Given the description of an element on the screen output the (x, y) to click on. 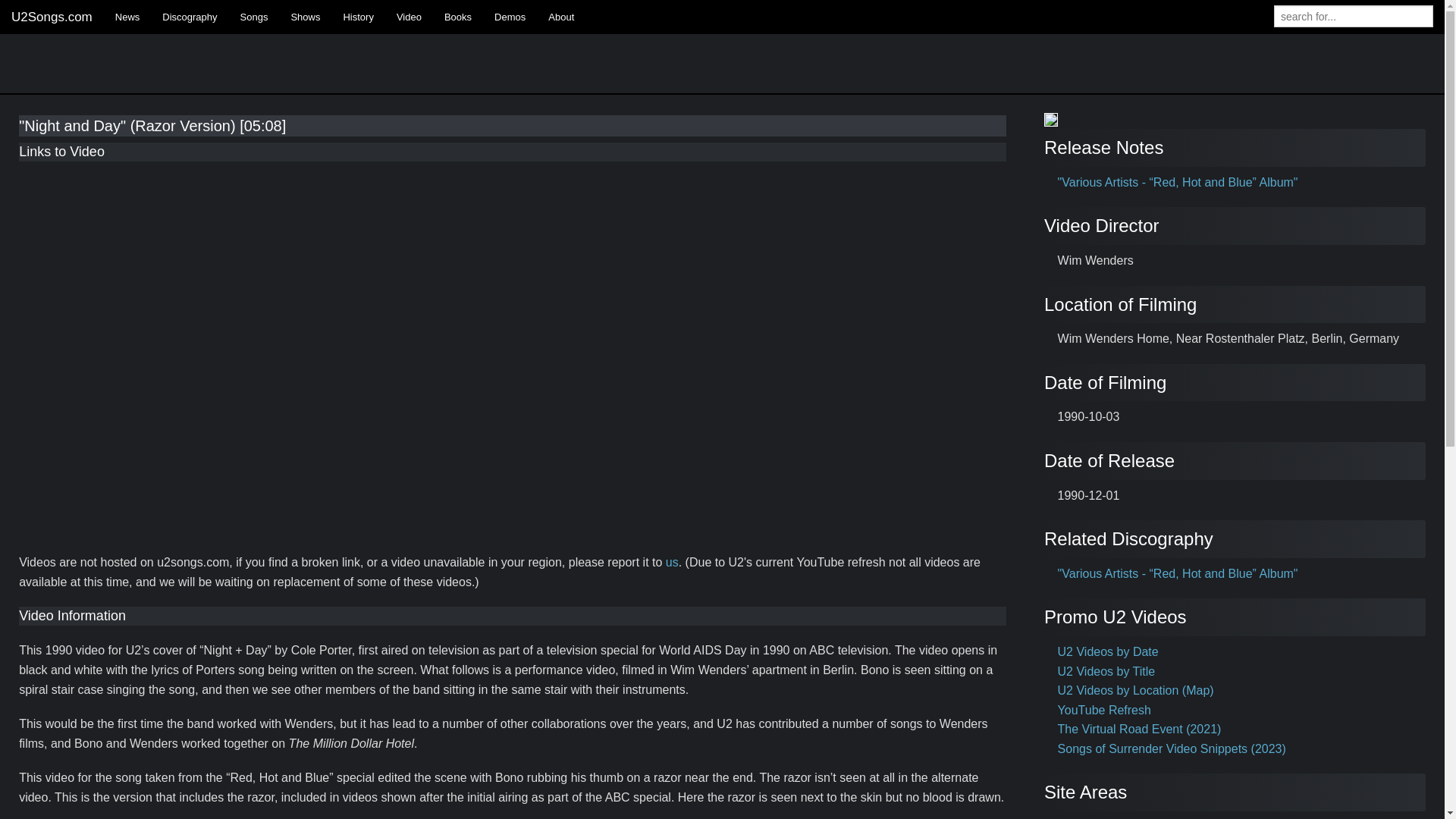
News (127, 17)
Discography (189, 17)
Songs (253, 17)
U2 Videos by Date (1108, 651)
Books (457, 17)
About (561, 17)
History (357, 17)
YouTube Refresh (1104, 709)
U2Songs.com (51, 17)
us (671, 562)
